Given the description of an element on the screen output the (x, y) to click on. 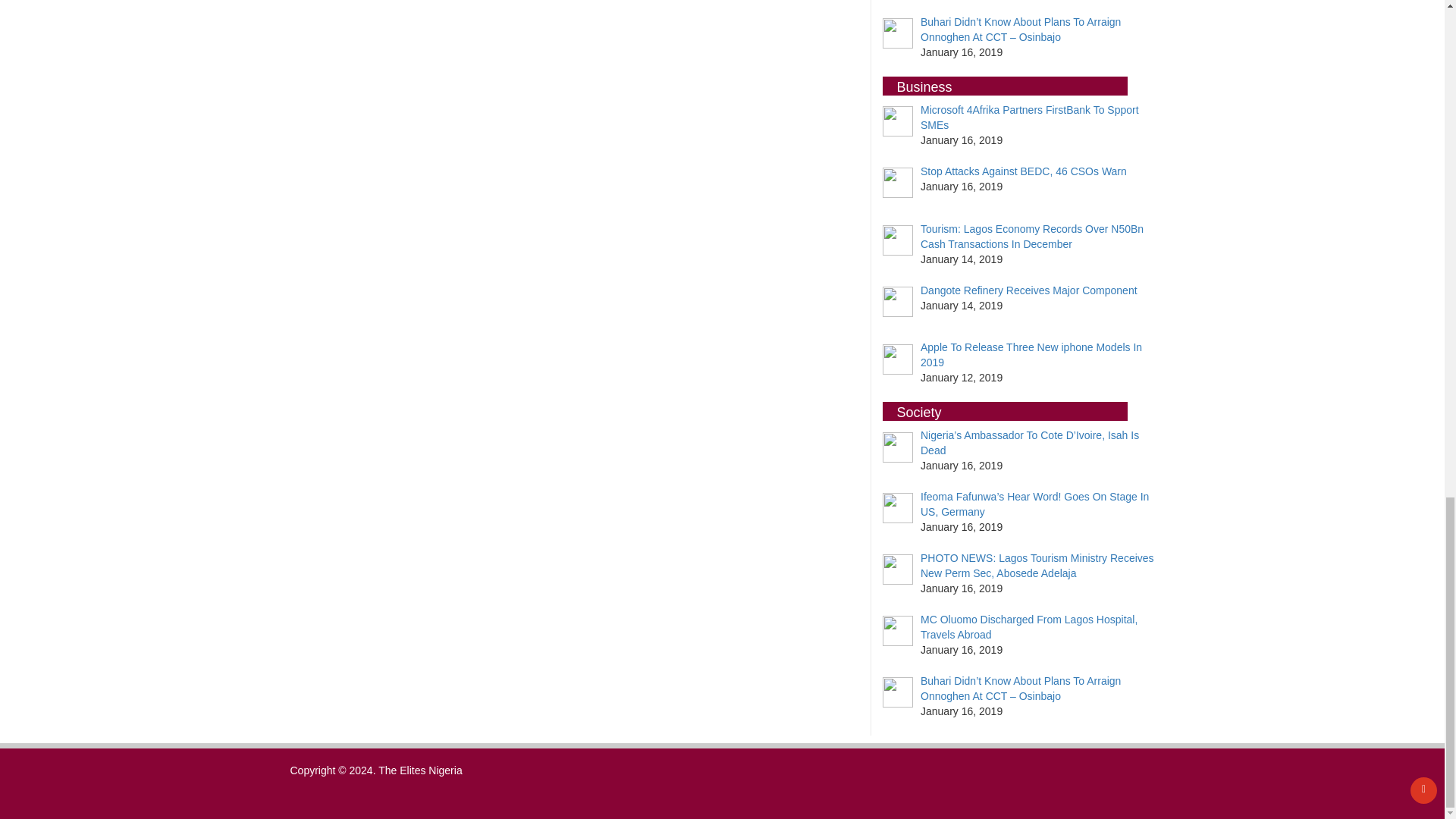
Stop Attacks Against BEDC, 46 CSOs Warn (1023, 171)
MC Oluomo Discharged From Lagos Hospital, Travels Abroad (1028, 626)
Dangote Refinery Receives Major Component (1028, 290)
Apple To Release Three New iphone Models In 2019 (1030, 354)
Microsoft 4Afrika Partners FirstBank To Spport SMEs (1029, 117)
